Given the description of an element on the screen output the (x, y) to click on. 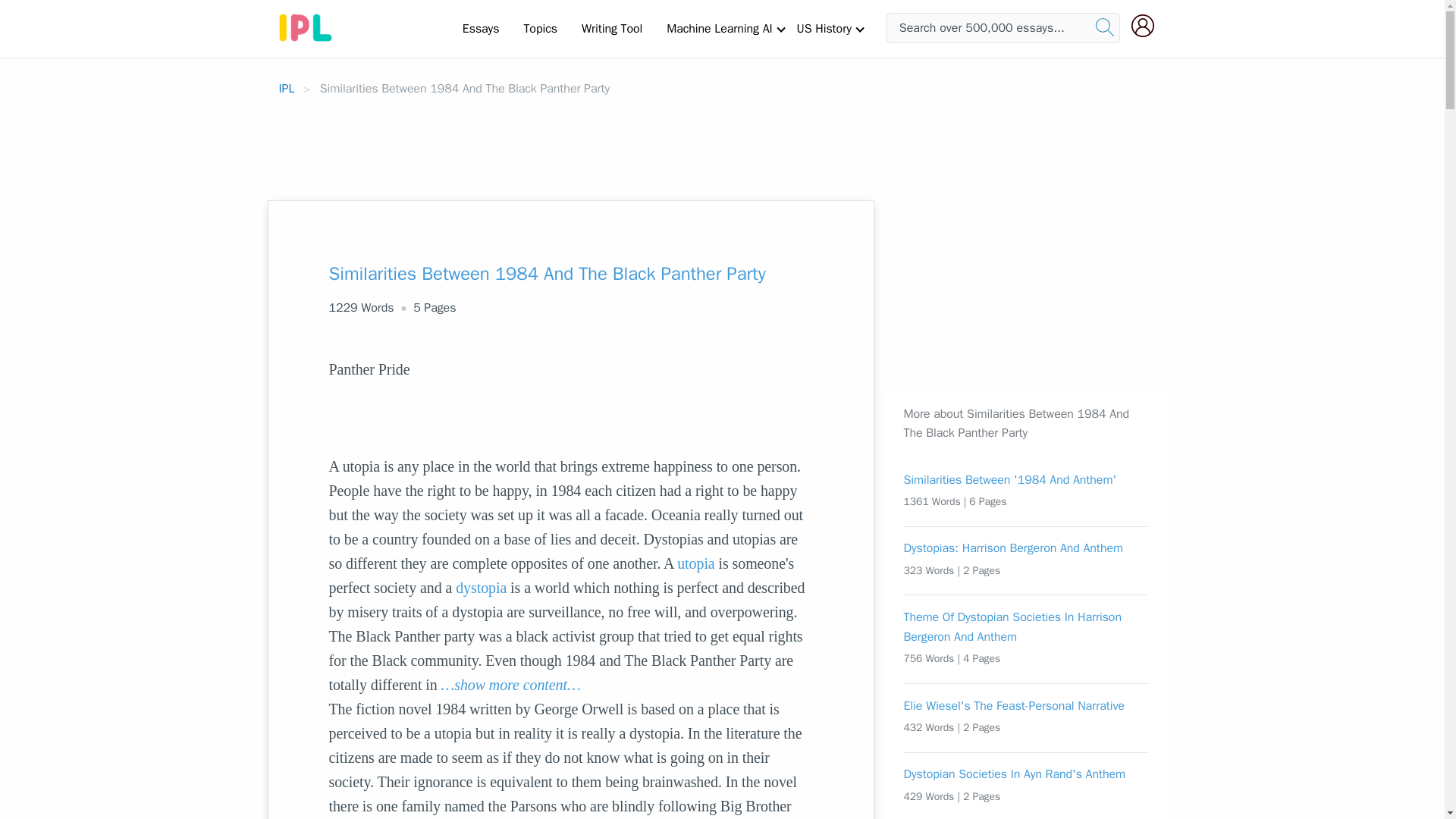
dystopia (480, 587)
US History (823, 28)
utopia (695, 563)
IPL (287, 88)
Essays (480, 28)
Topics (540, 28)
Machine Learning AI (718, 28)
Writing Tool (611, 28)
